Given the description of an element on the screen output the (x, y) to click on. 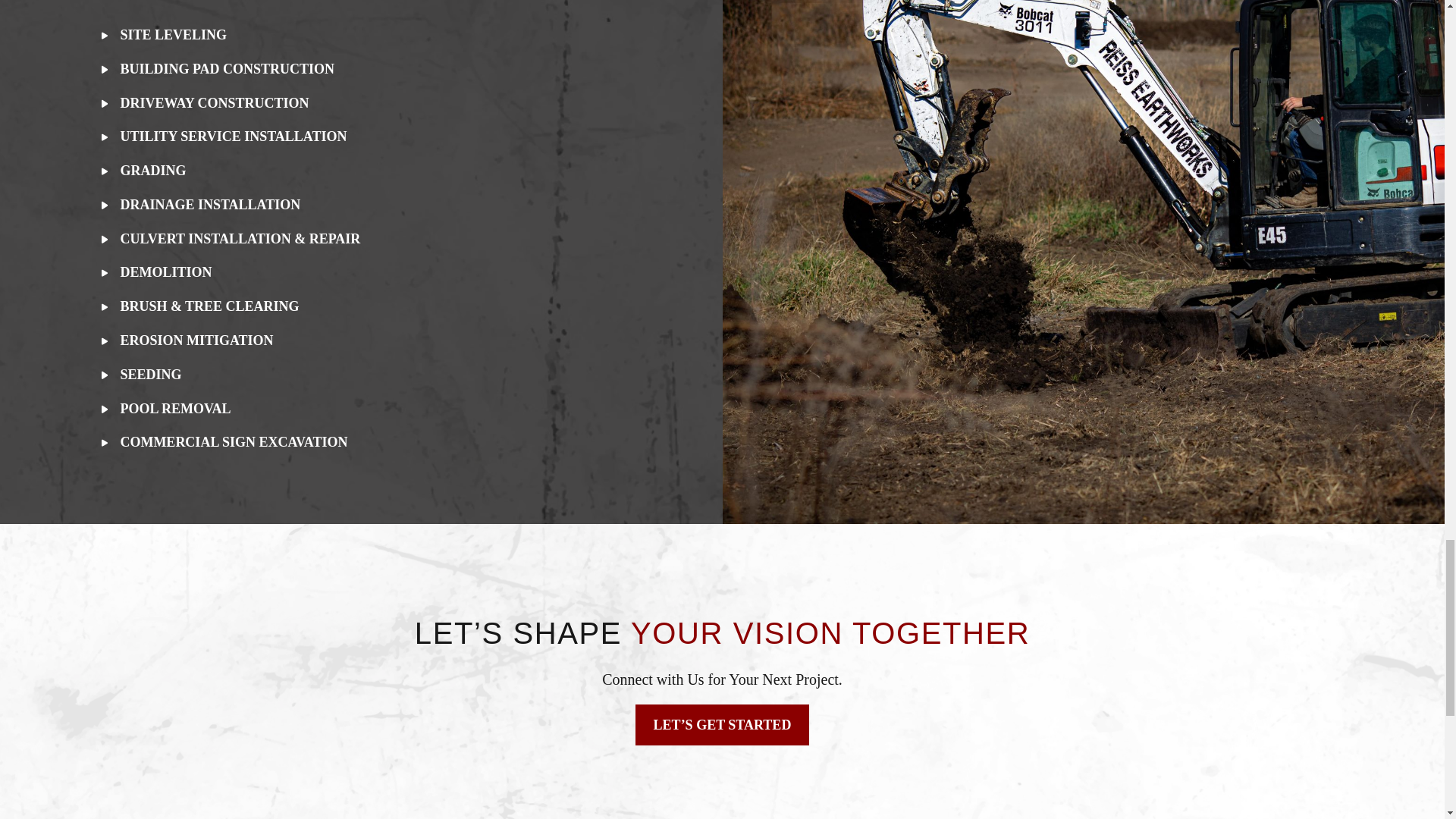
SITE LEVELING (181, 34)
BUILDING PAD CONSTRUCTION (235, 68)
DRIVEWAY CONSTRUCTION (222, 102)
